Given the description of an element on the screen output the (x, y) to click on. 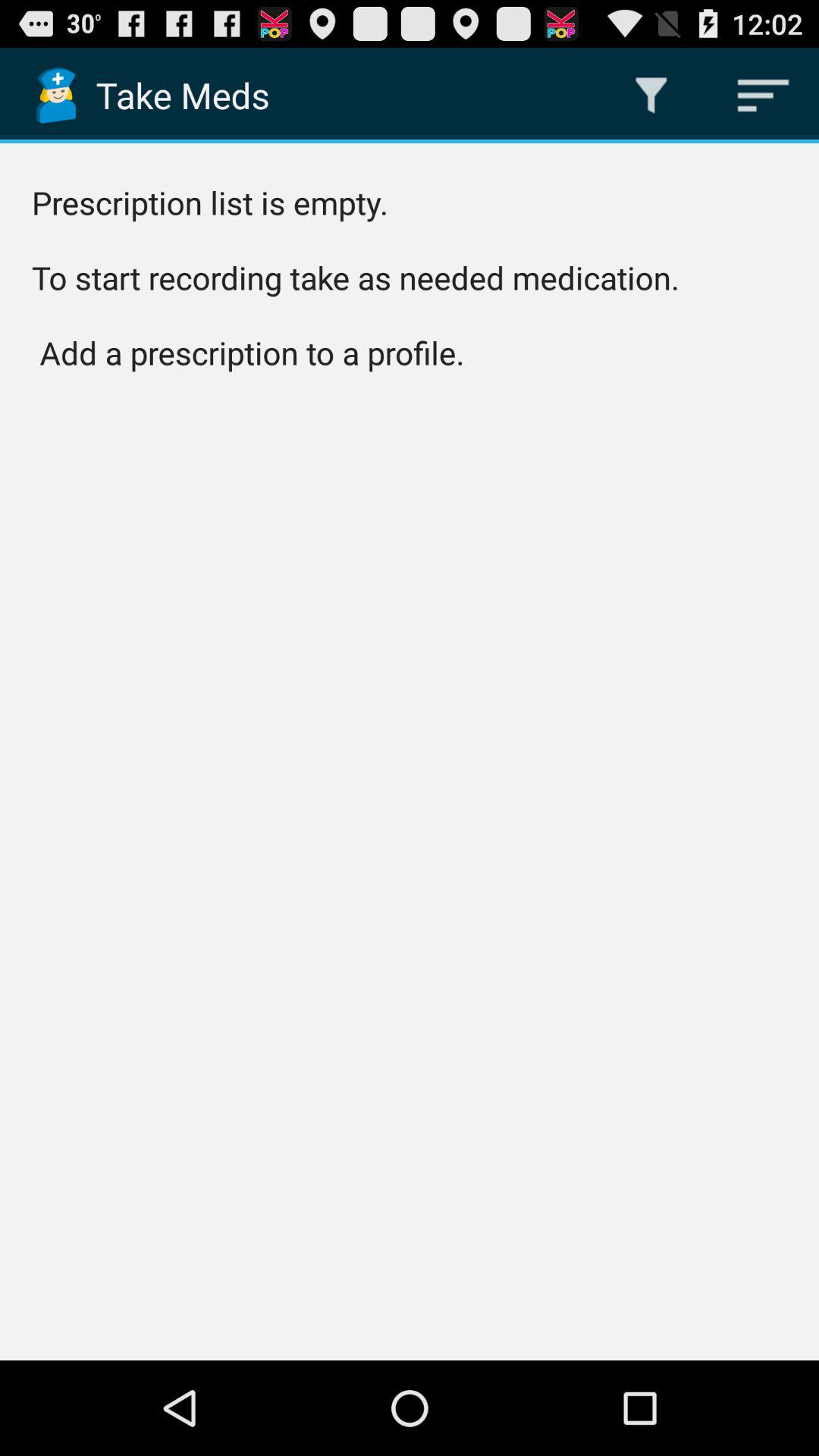
open app above the prescription list is app (763, 95)
